Given the description of an element on the screen output the (x, y) to click on. 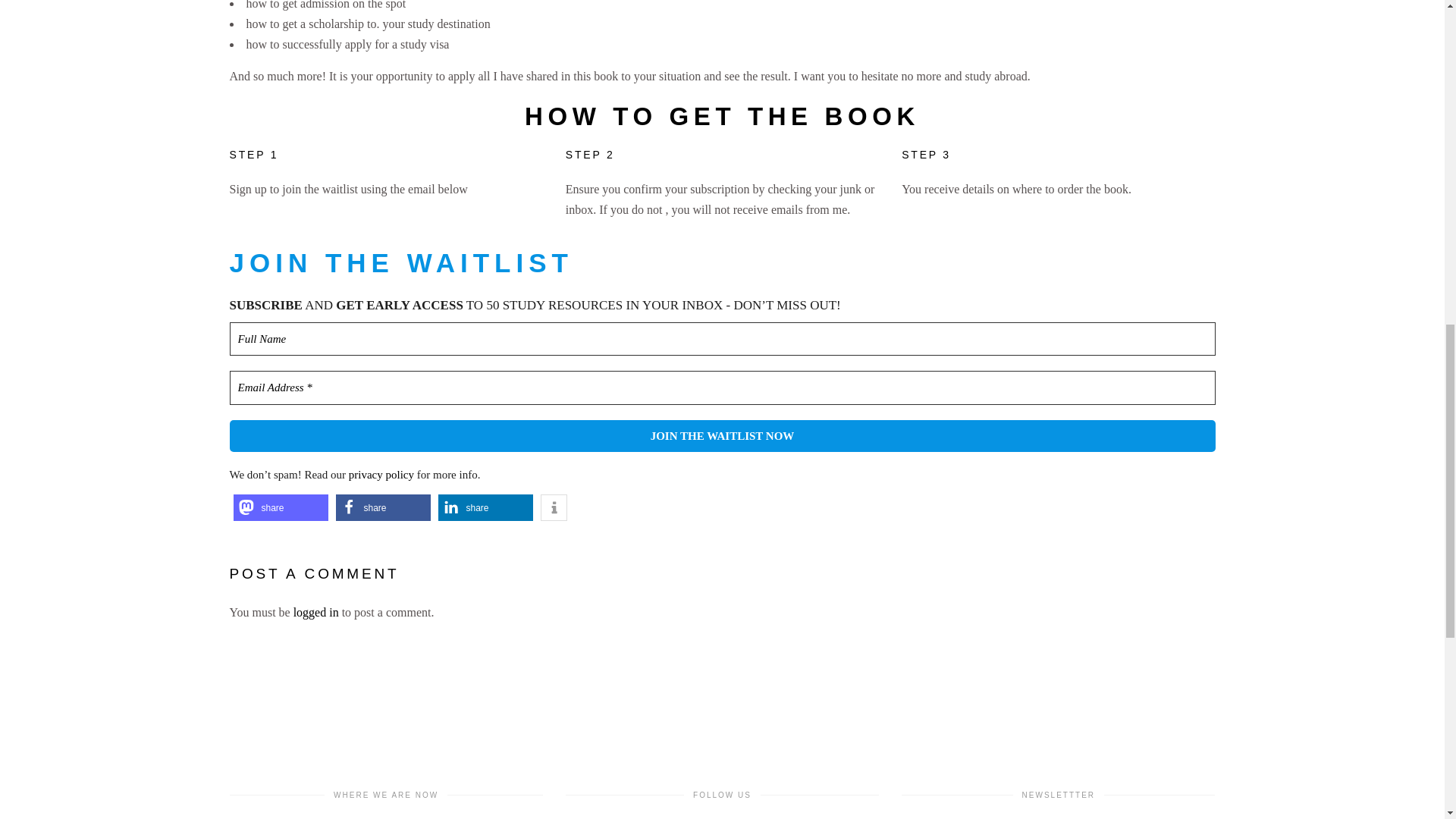
Share on Facebook (381, 507)
More information (553, 507)
Email Address (721, 387)
Full Name (721, 339)
Share on Mastodon (280, 507)
Share on LinkedIn (485, 507)
JOIN THE WAITLIST NOW (721, 436)
